Given the description of an element on the screen output the (x, y) to click on. 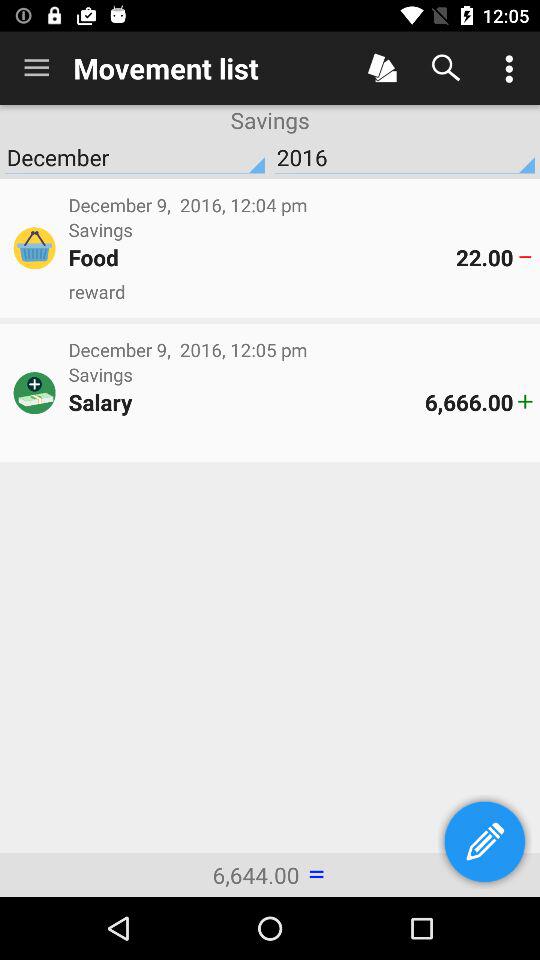
select the item next to 22.00 icon (262, 257)
